Given the description of an element on the screen output the (x, y) to click on. 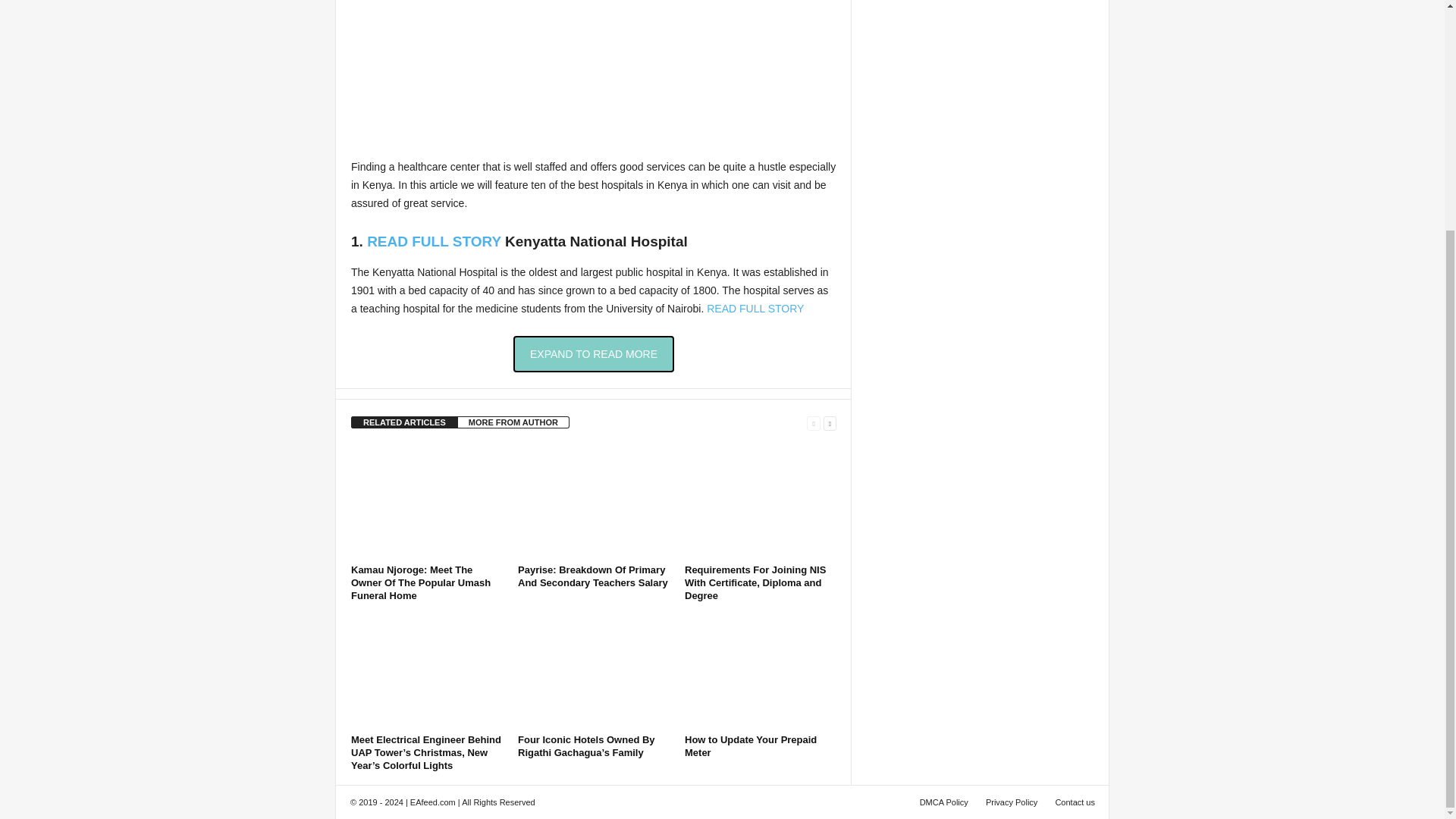
Payrise: Breakdown Of Primary And Secondary Teachers Salary (593, 501)
Payrise: Breakdown Of Primary And Secondary Teachers Salary (593, 576)
READ FULL STORY (754, 308)
EXPAND TO READ MORE (593, 353)
READ FULL STORY (433, 241)
